Given the description of an element on the screen output the (x, y) to click on. 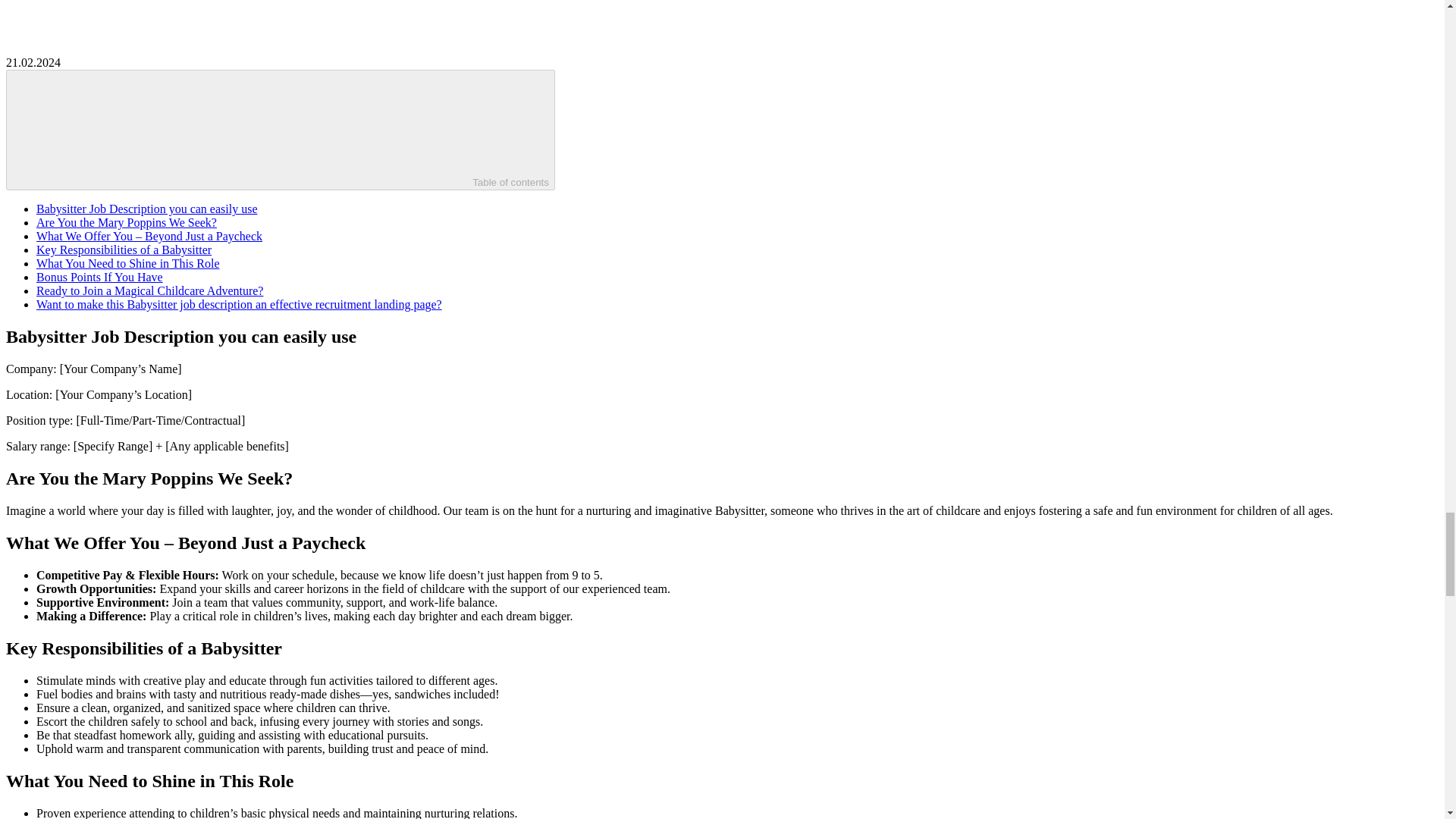
Babysitter Job Description you can easily use (146, 208)
What You Need to Shine in This Role (127, 263)
Are You the Mary Poppins We Seek? (126, 222)
Ready to Join a Magical Childcare Adventure? (149, 290)
Bonus Points If You Have (99, 277)
babysitter-job-description (721, 20)
Key Responsibilities of a Babysitter (123, 249)
